Given the description of an element on the screen output the (x, y) to click on. 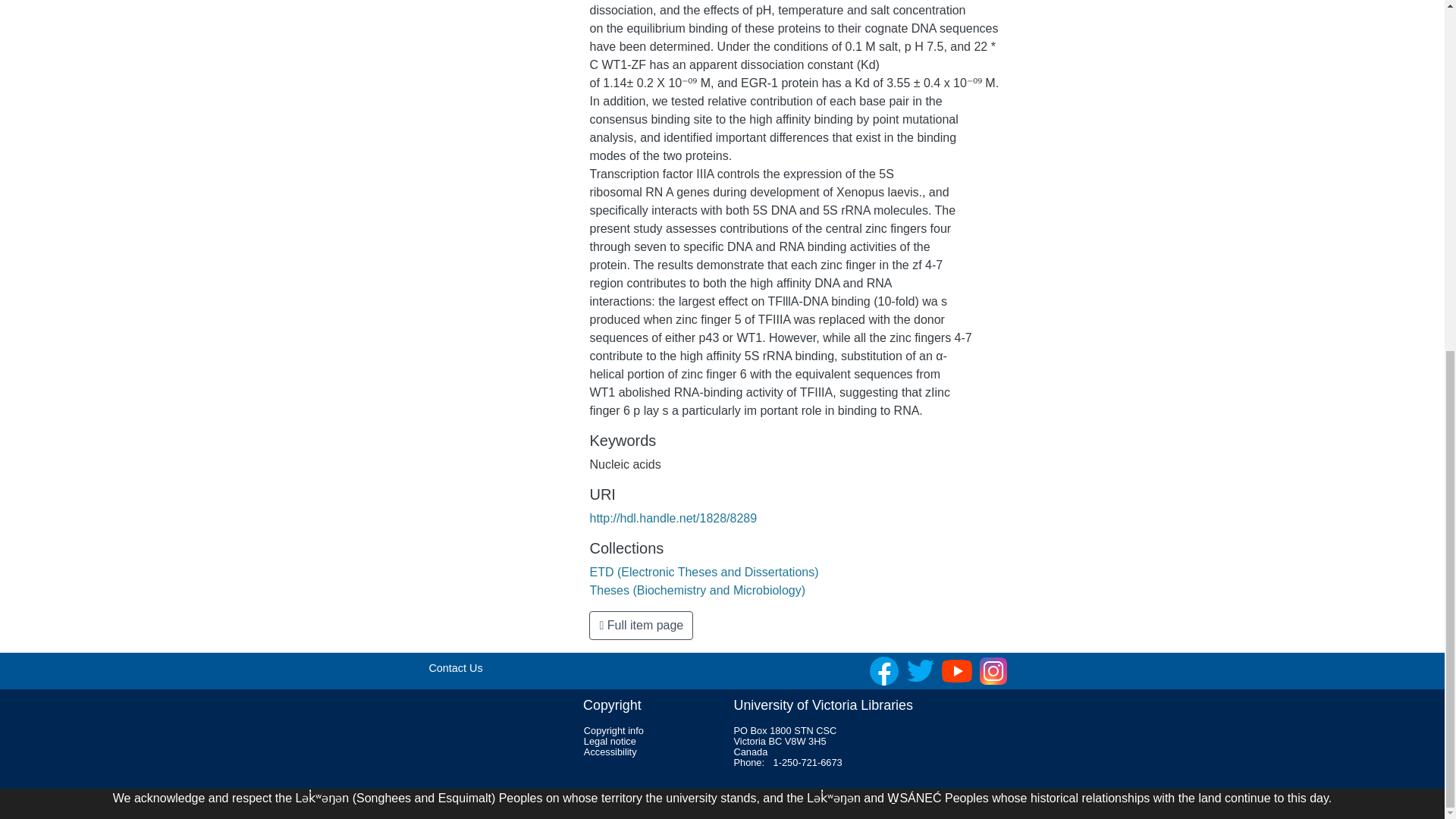
Full item page (641, 624)
Contact Us (454, 667)
